Given the description of an element on the screen output the (x, y) to click on. 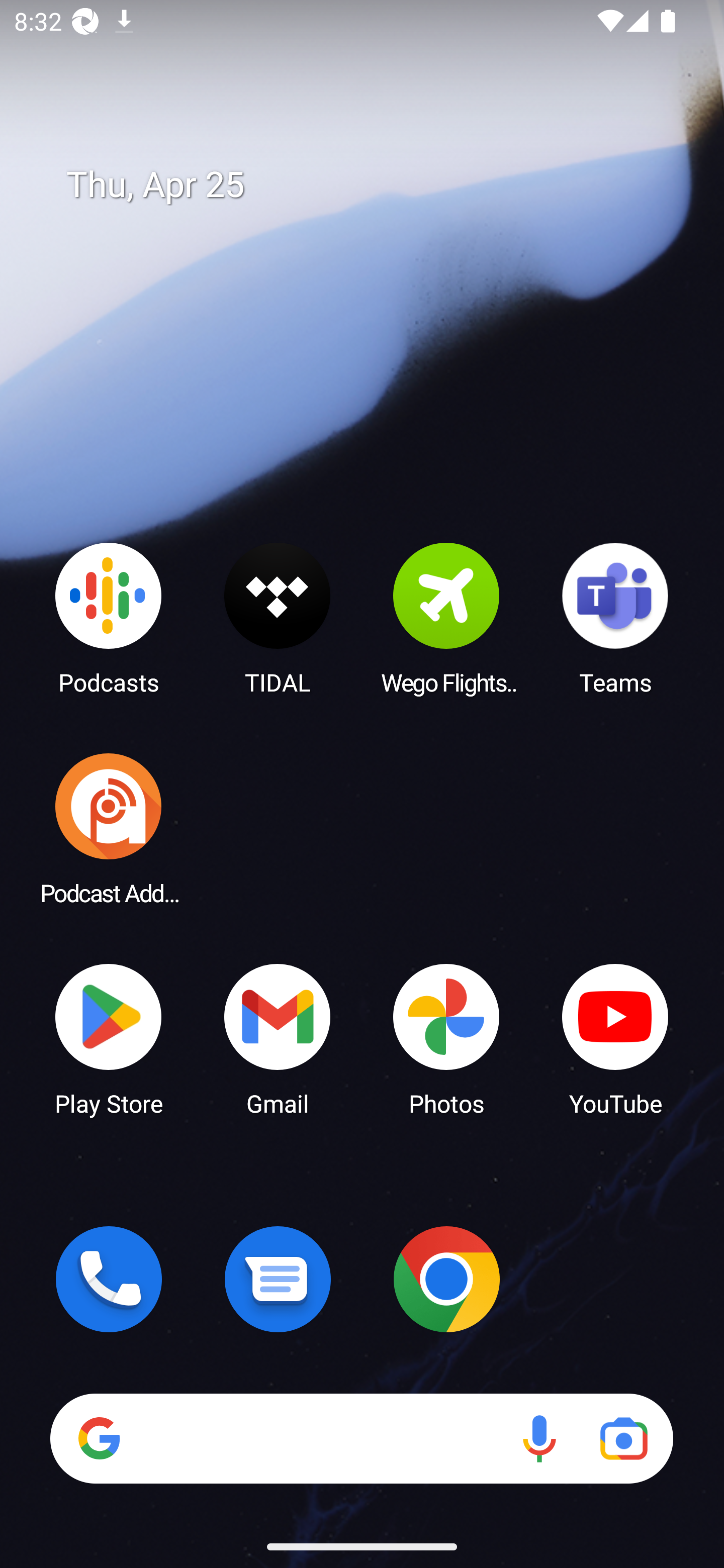
Thu, Apr 25 (375, 184)
Podcasts (108, 617)
TIDAL (277, 617)
Wego Flights & Hotels (445, 617)
Teams (615, 617)
Podcast Addict (108, 828)
Play Store (108, 1038)
Gmail (277, 1038)
Photos (445, 1038)
YouTube (615, 1038)
Phone (108, 1279)
Messages (277, 1279)
Chrome (446, 1279)
Search Voice search Google Lens (361, 1438)
Voice search (539, 1438)
Google Lens (623, 1438)
